Given the description of an element on the screen output the (x, y) to click on. 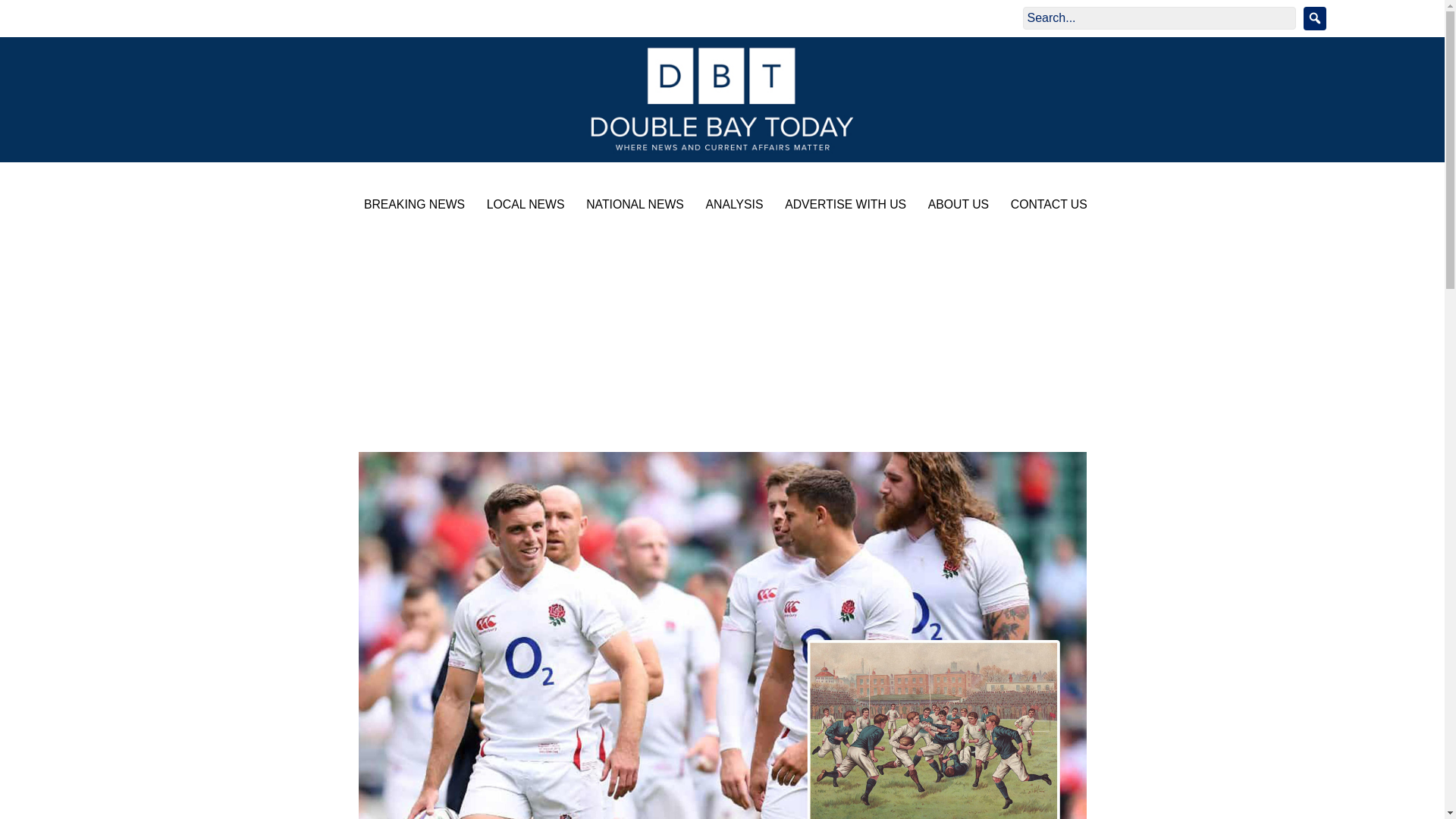
LOCAL NEWS (521, 206)
NATIONAL NEWS (631, 206)
ADVERTISE WITH US (842, 206)
DBTLOGOretina (721, 99)
BREAKING NEWS (410, 206)
ABOUT US (954, 206)
CONTACT US (1044, 206)
ANALYSIS (731, 206)
